Given the description of an element on the screen output the (x, y) to click on. 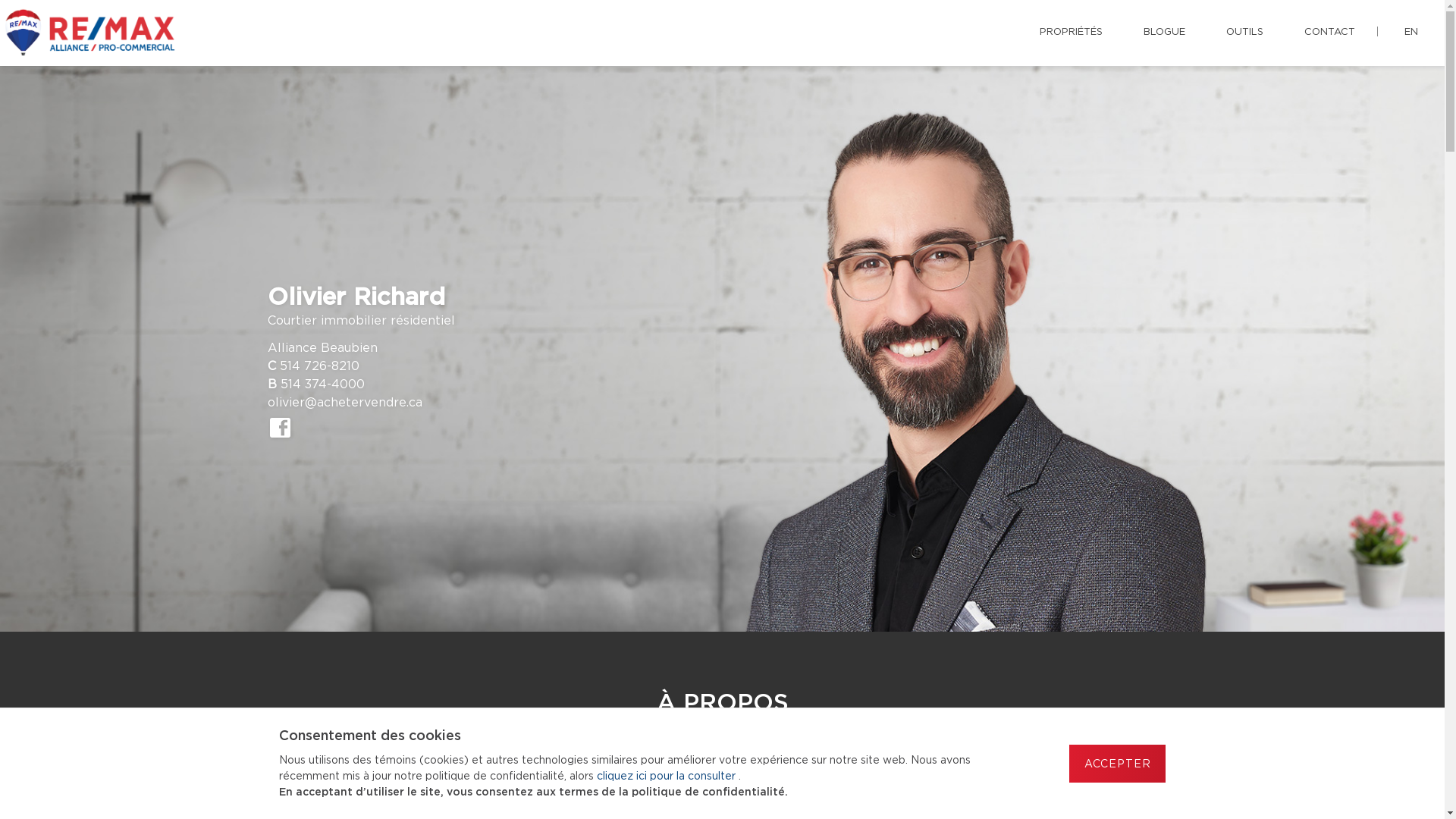
CONTACT Element type: text (1329, 32)
EN Element type: text (1411, 32)
514 726-8210 Element type: text (318, 366)
OUTILS Element type: text (1244, 32)
cliquez ici pour la consulter Element type: text (666, 776)
514 374-4000 Element type: text (322, 384)
olivier@achetervendre.ca Element type: text (343, 402)
BLOGUE Element type: text (1164, 32)
ACCEPTER Element type: text (1117, 763)
